Given the description of an element on the screen output the (x, y) to click on. 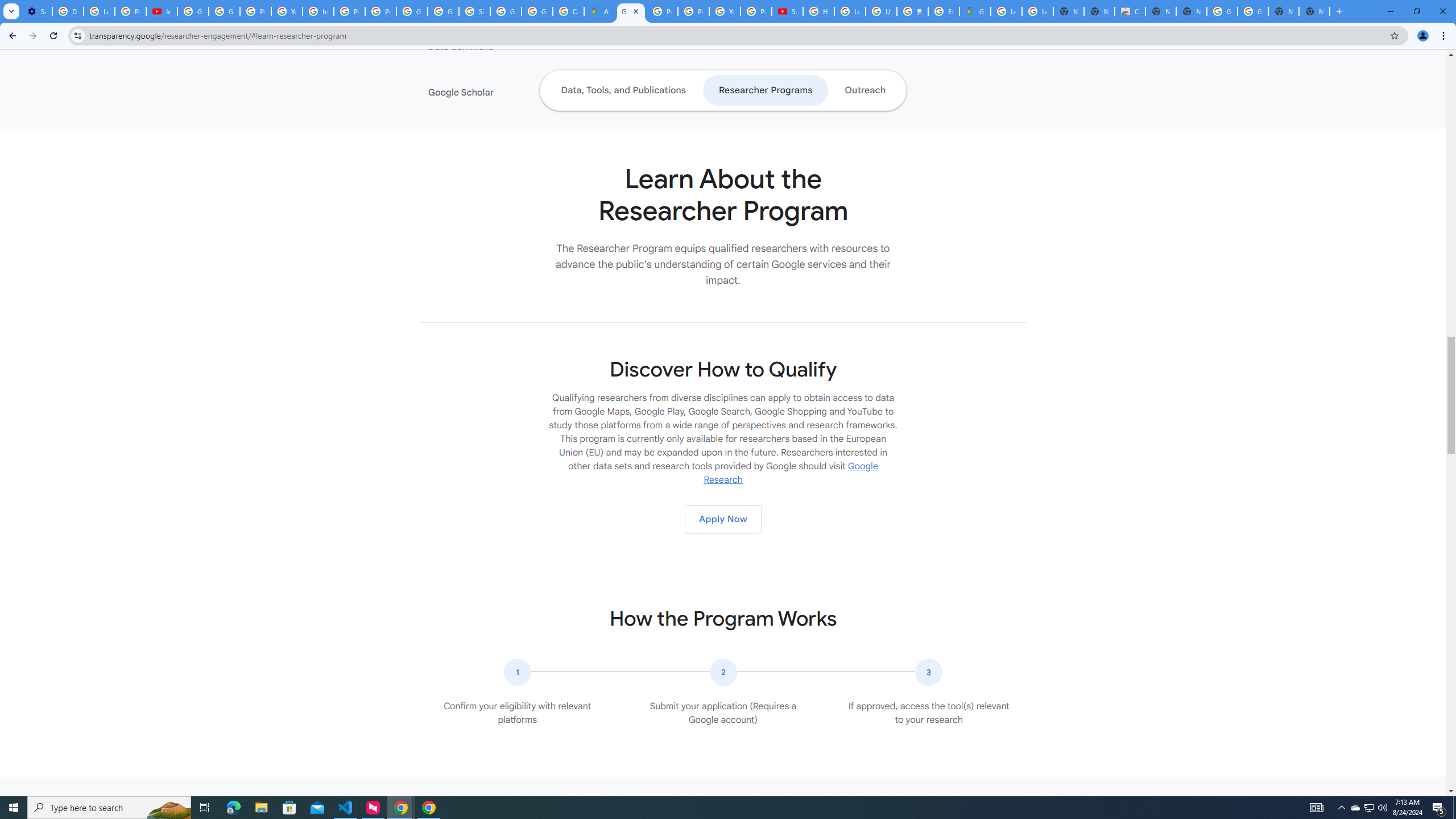
Google Maps (974, 11)
Google Images (1222, 11)
Google Research (790, 472)
Google Account Help (192, 11)
